Given the description of an element on the screen output the (x, y) to click on. 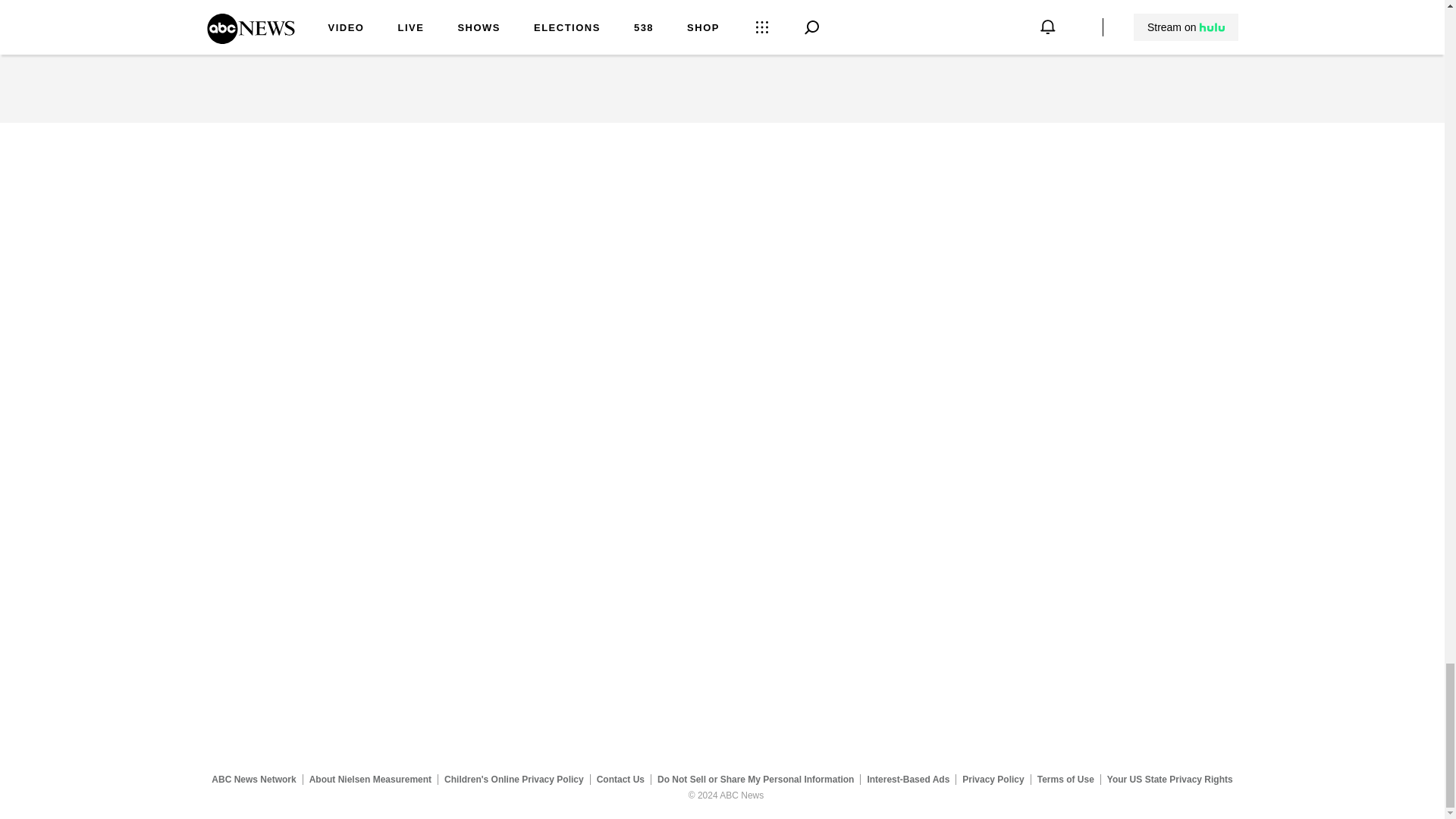
Do Not Sell or Share My Personal Information (755, 778)
Terms of Use (1065, 778)
About Nielsen Measurement (370, 778)
Privacy Policy (993, 778)
Interest-Based Ads (908, 778)
Contact Us (620, 778)
Your US State Privacy Rights (1169, 778)
ABC News Network (253, 778)
Children's Online Privacy Policy (514, 778)
